Given the description of an element on the screen output the (x, y) to click on. 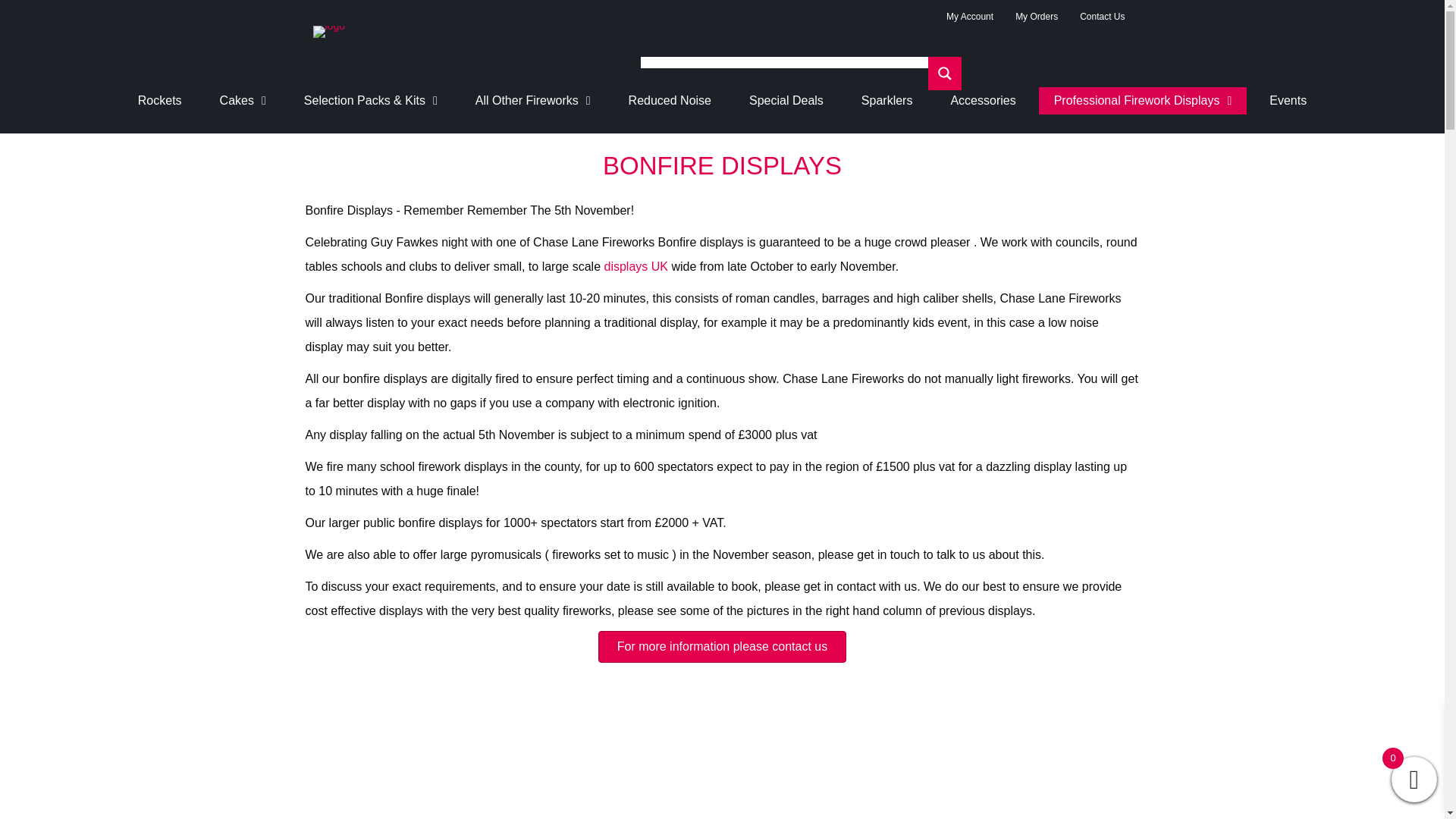
Rockets (159, 100)
My Orders (1036, 16)
Reduced Noise (669, 100)
Cakes (243, 100)
Sparklers (886, 100)
Accessories (982, 100)
My Account (970, 16)
Contact Us (1101, 16)
All Other Fireworks (532, 100)
